Given the description of an element on the screen output the (x, y) to click on. 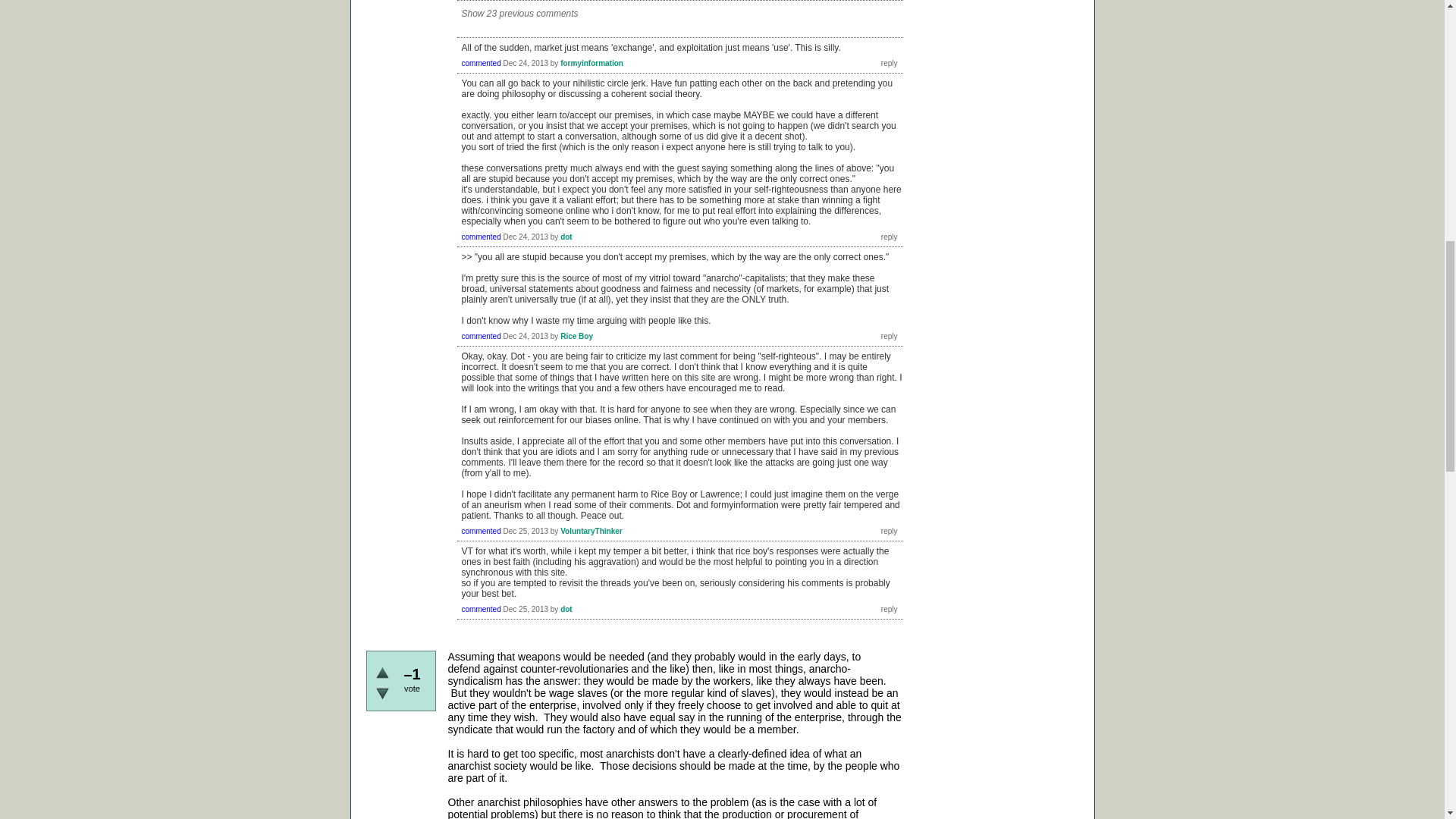
reply (889, 236)
reply (889, 62)
reply (889, 609)
reply (889, 336)
reply (889, 531)
